Given the description of an element on the screen output the (x, y) to click on. 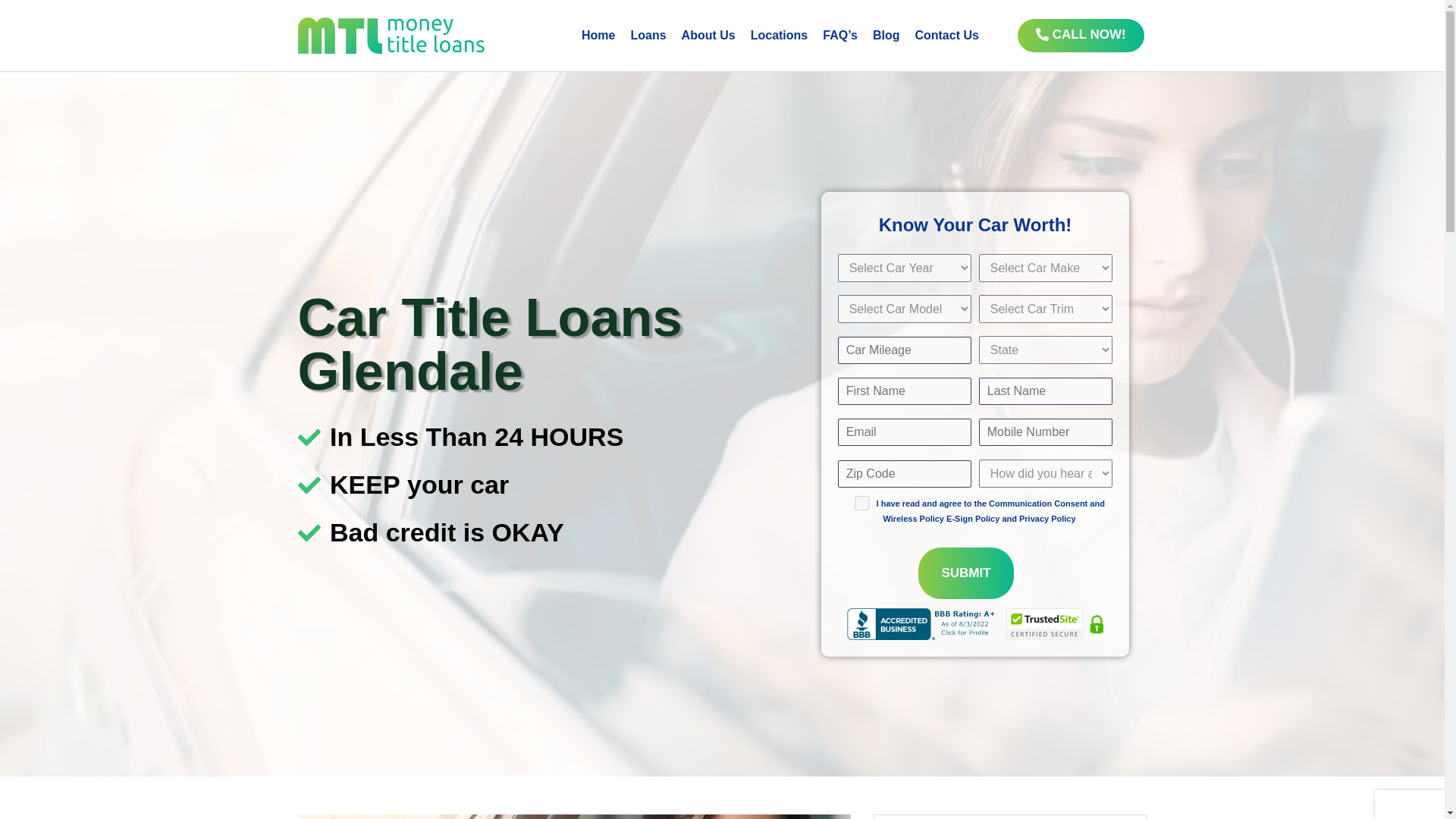
Locations (778, 35)
Loans (647, 35)
Submit (965, 572)
About Us (708, 35)
Contact Us (946, 35)
Home (598, 35)
1 (861, 503)
CALL NOW! (1080, 35)
Blog (885, 35)
